Given the description of an element on the screen output the (x, y) to click on. 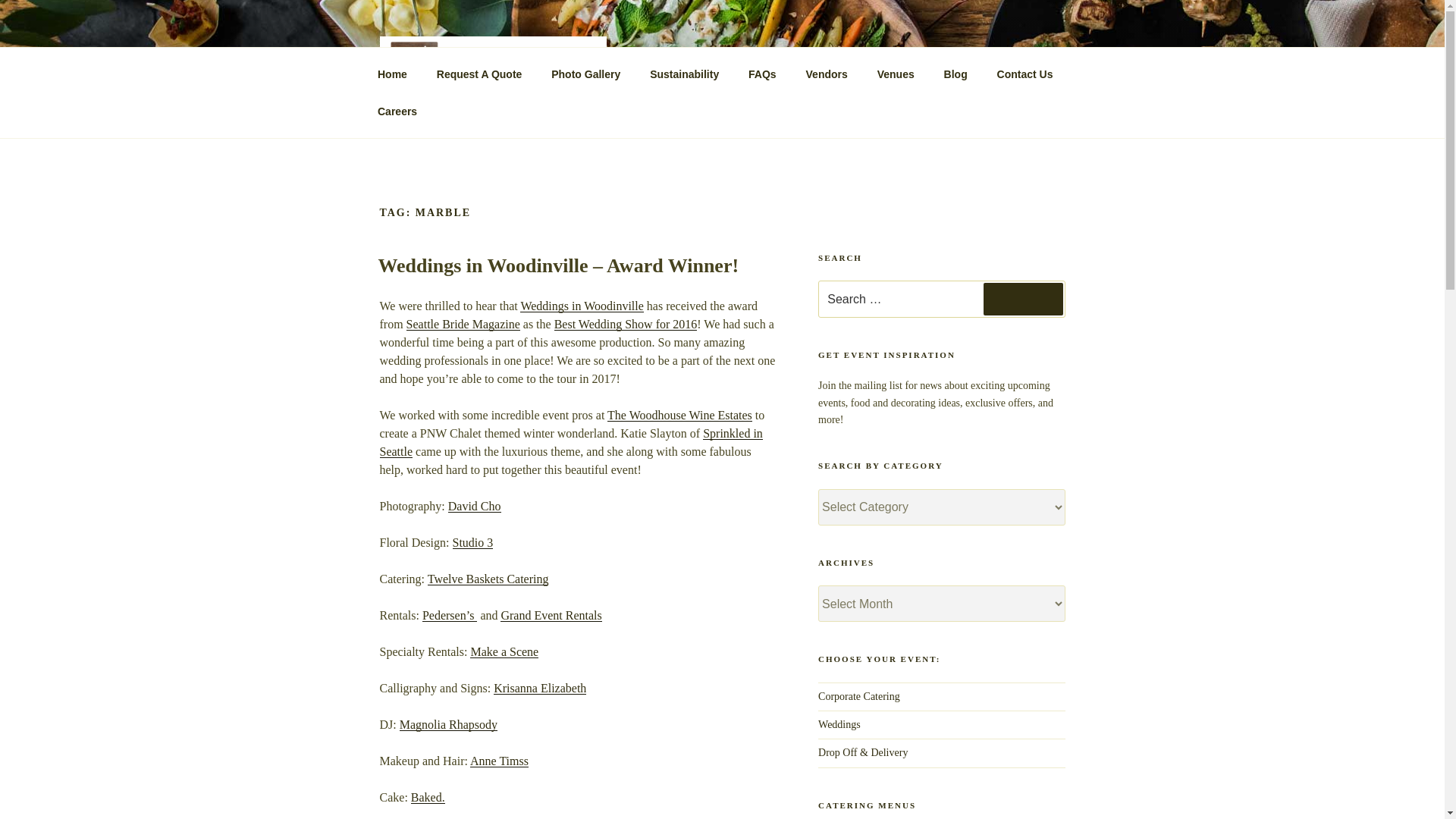
Best Wedding Show for 2016 (625, 323)
Studio 3 (472, 542)
Sprinkled in Seattle (569, 441)
Twelve Baskets Catering (488, 578)
Anne Timss (499, 760)
Grand Event Rentals (550, 615)
Make a Scene (504, 651)
Krisanna Elizabeth (539, 687)
Request A Quote (479, 74)
The Woodhouse Wine Estates (679, 414)
